Given the description of an element on the screen output the (x, y) to click on. 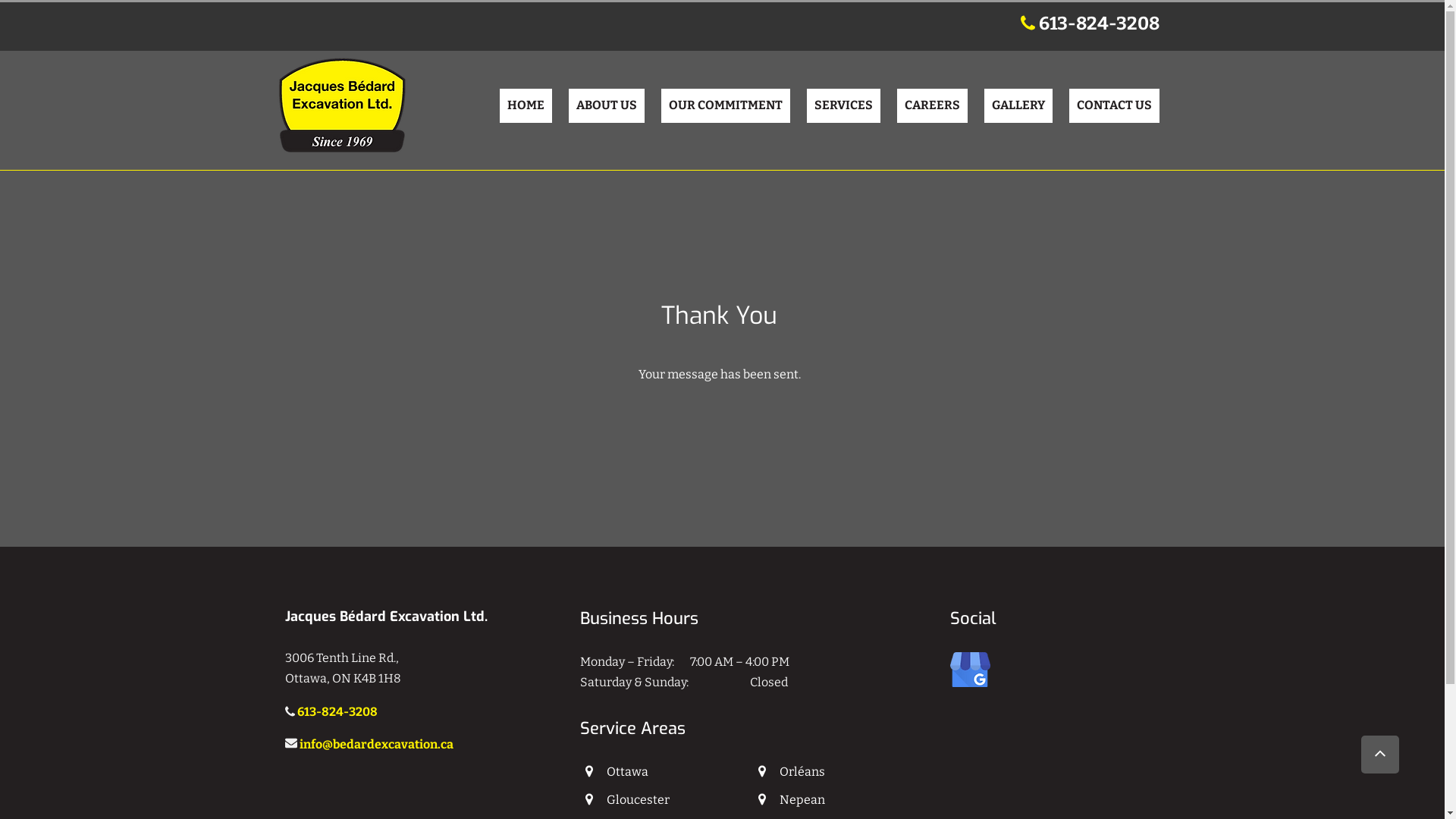
GALLERY Element type: text (1018, 105)
OUR COMMITMENT Element type: text (725, 105)
613-824-3208 Element type: text (1098, 26)
CONTACT US Element type: text (1114, 105)
SERVICES Element type: text (843, 105)
613-824-3208 Element type: text (337, 713)
info@bedardexcavation.ca Element type: text (375, 745)
HOME Element type: text (524, 105)
CAREERS Element type: text (931, 105)
ABOUT US Element type: text (606, 105)
